Given the description of an element on the screen output the (x, y) to click on. 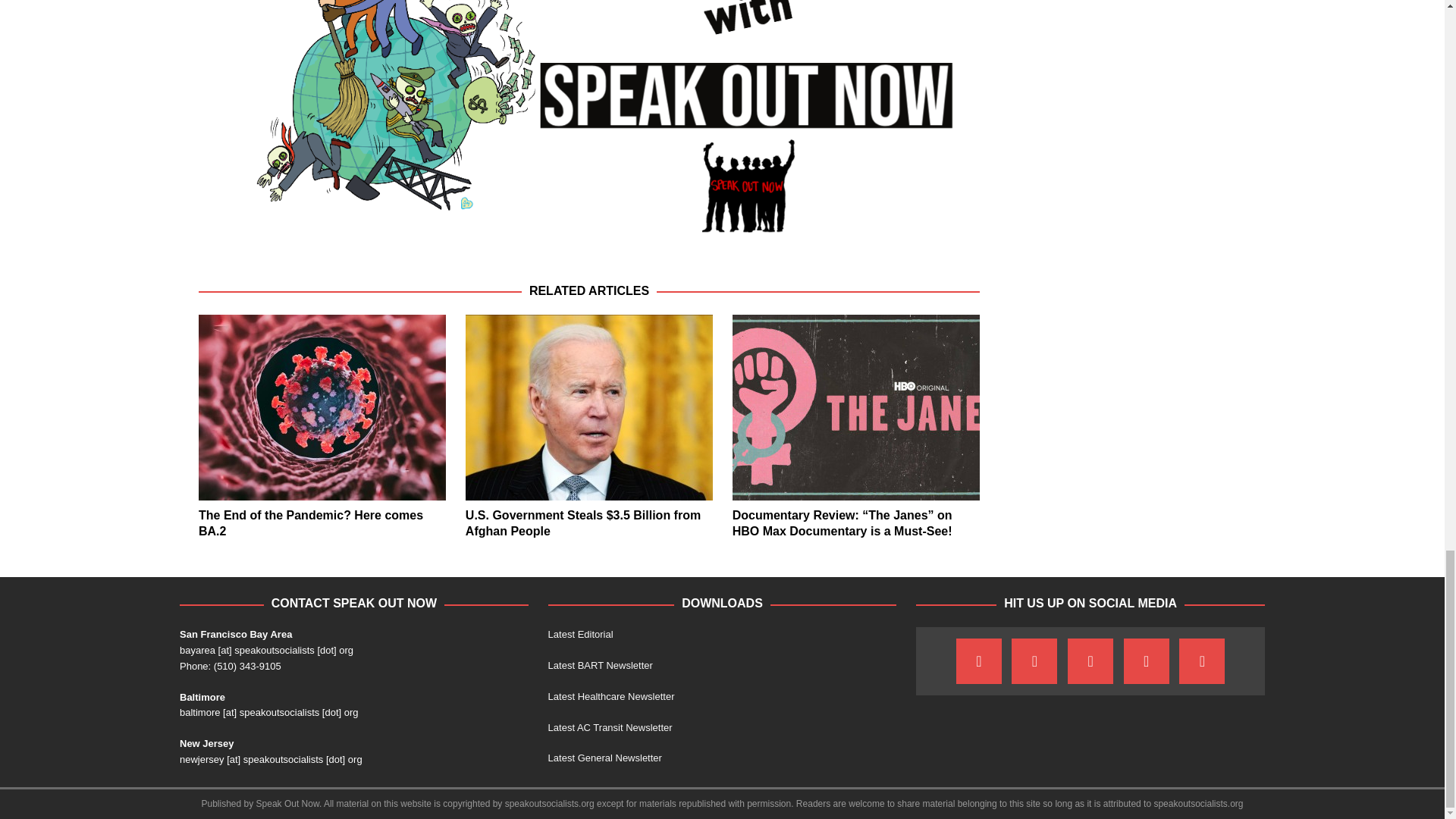
The End of the Pandemic? Here comes BA.2 (310, 522)
The End of the Pandemic? Here comes BA.2 (321, 407)
